Given the description of an element on the screen output the (x, y) to click on. 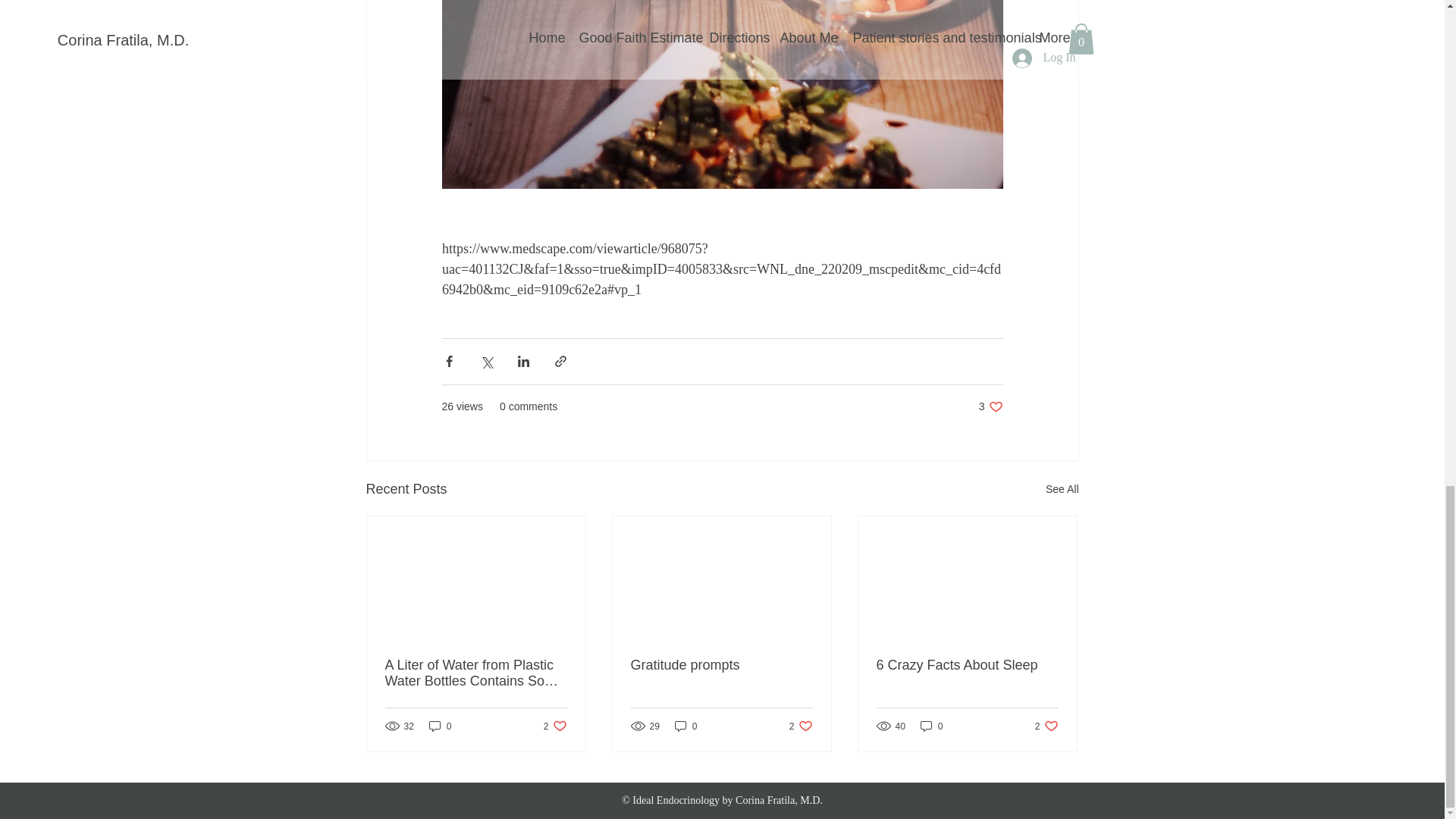
6 Crazy Facts About Sleep (967, 665)
0 (1046, 726)
0 (800, 726)
See All (685, 726)
Gratitude prompts (931, 726)
0 (990, 406)
